Given the description of an element on the screen output the (x, y) to click on. 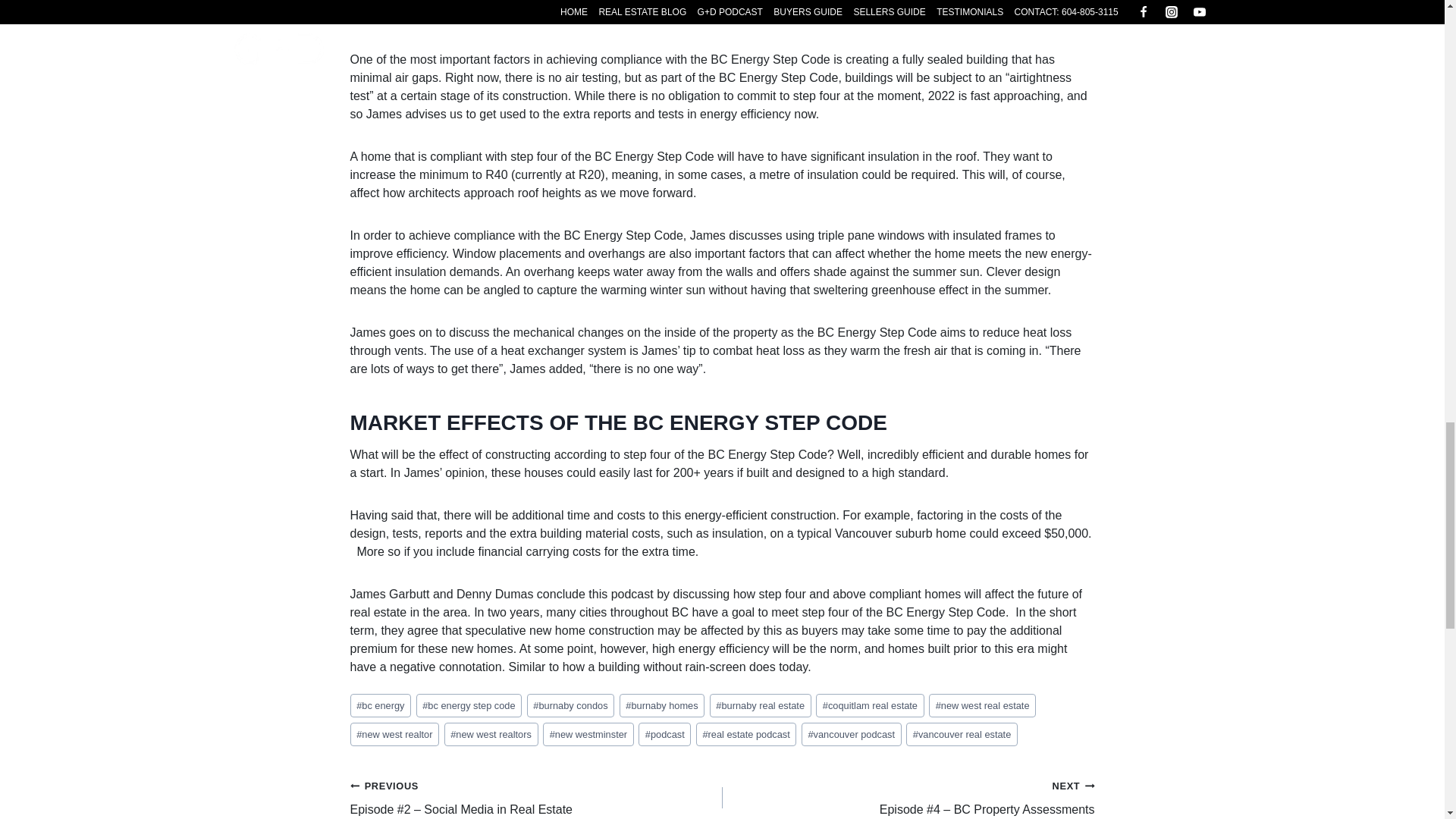
vancouver real estate (961, 734)
bc energy (381, 705)
burnaby homes (662, 705)
podcast (664, 734)
burnaby real estate (760, 705)
bc energy step code (469, 705)
new west realtor (394, 734)
coquitlam real estate (869, 705)
new west realtors (491, 734)
new westminster (588, 734)
new west real estate (981, 705)
burnaby condos (570, 705)
real estate podcast (745, 734)
vancouver podcast (851, 734)
